Given the description of an element on the screen output the (x, y) to click on. 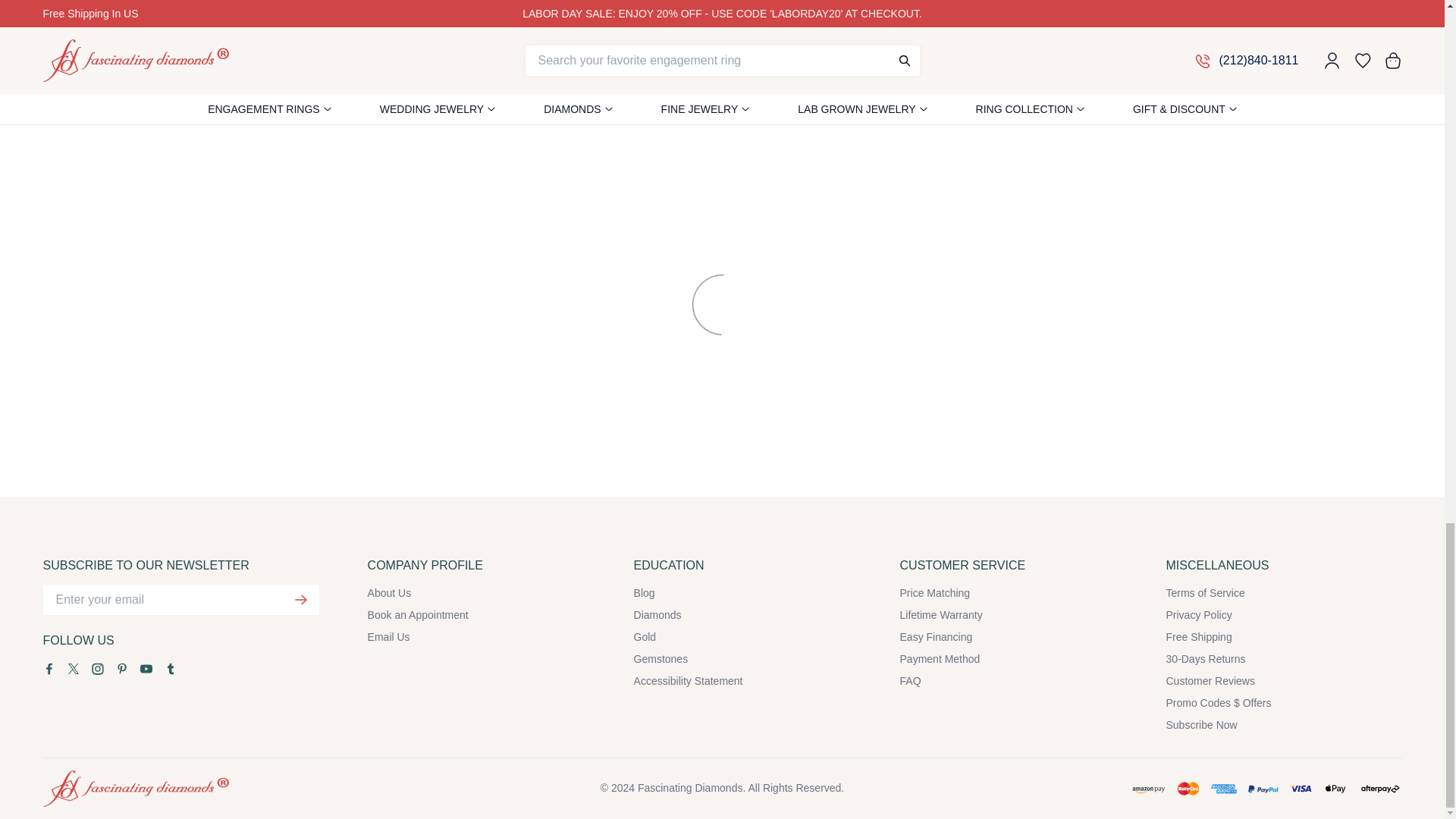
Twitter (72, 668)
Facebook (48, 668)
Pinterest (121, 668)
Instagram (96, 668)
youtube (145, 668)
